Given the description of an element on the screen output the (x, y) to click on. 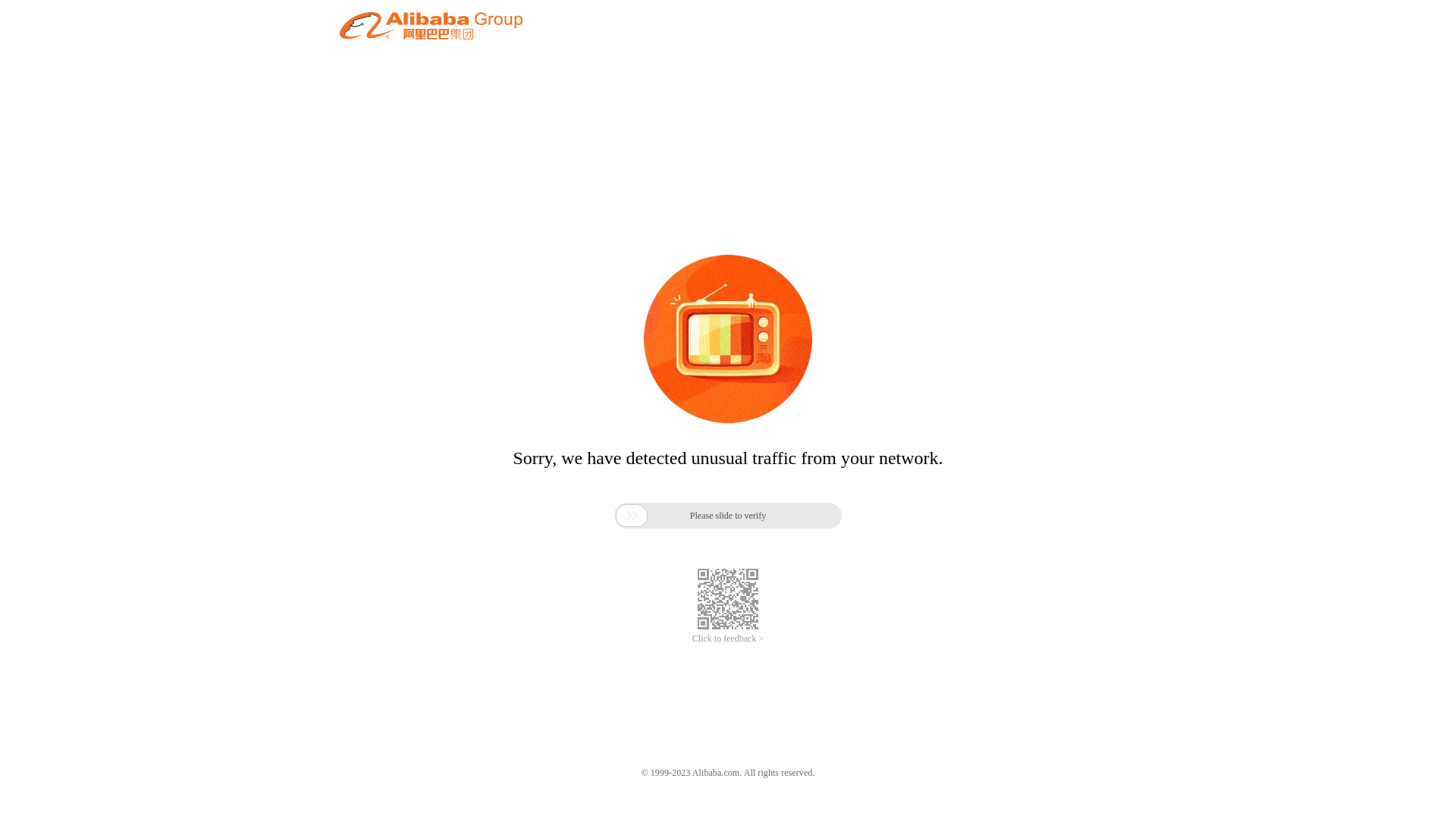
Click to feedback > Element type: text (727, 638)
